Given the description of an element on the screen output the (x, y) to click on. 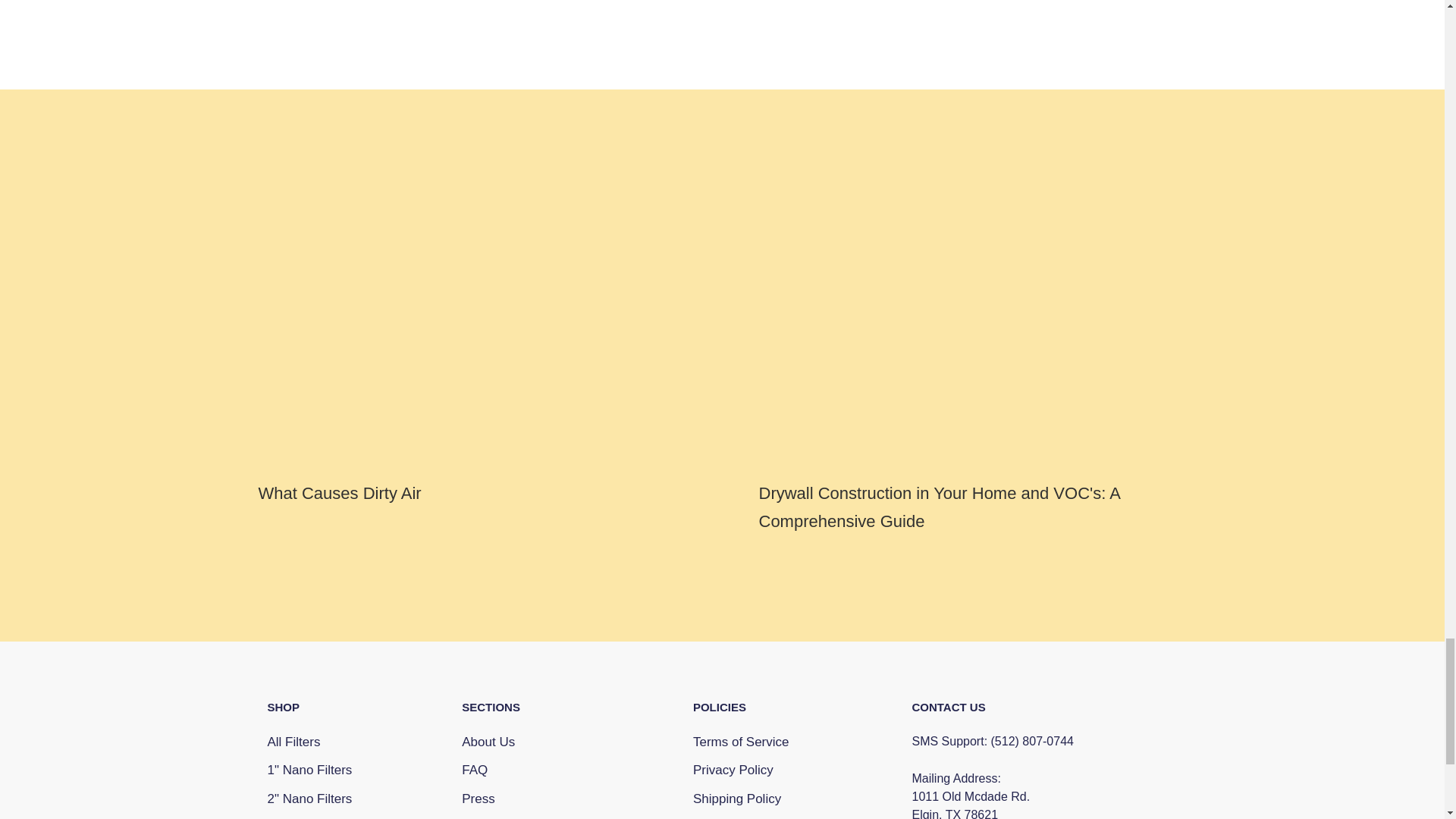
What Causes Dirty Air (338, 493)
2" Nano Filters (309, 799)
1" Nano Filters (309, 770)
All Filters (309, 742)
